Given the description of an element on the screen output the (x, y) to click on. 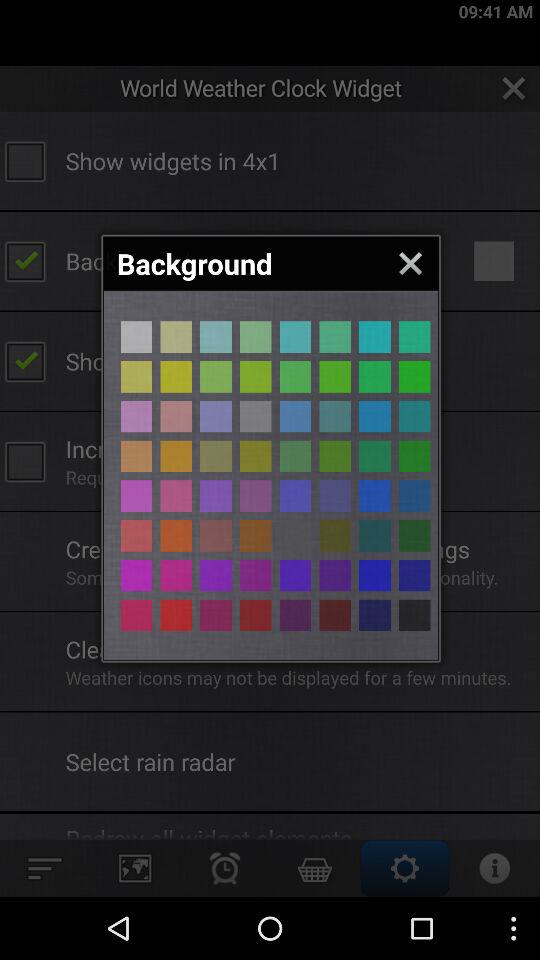
colour paga (335, 456)
